Given the description of an element on the screen output the (x, y) to click on. 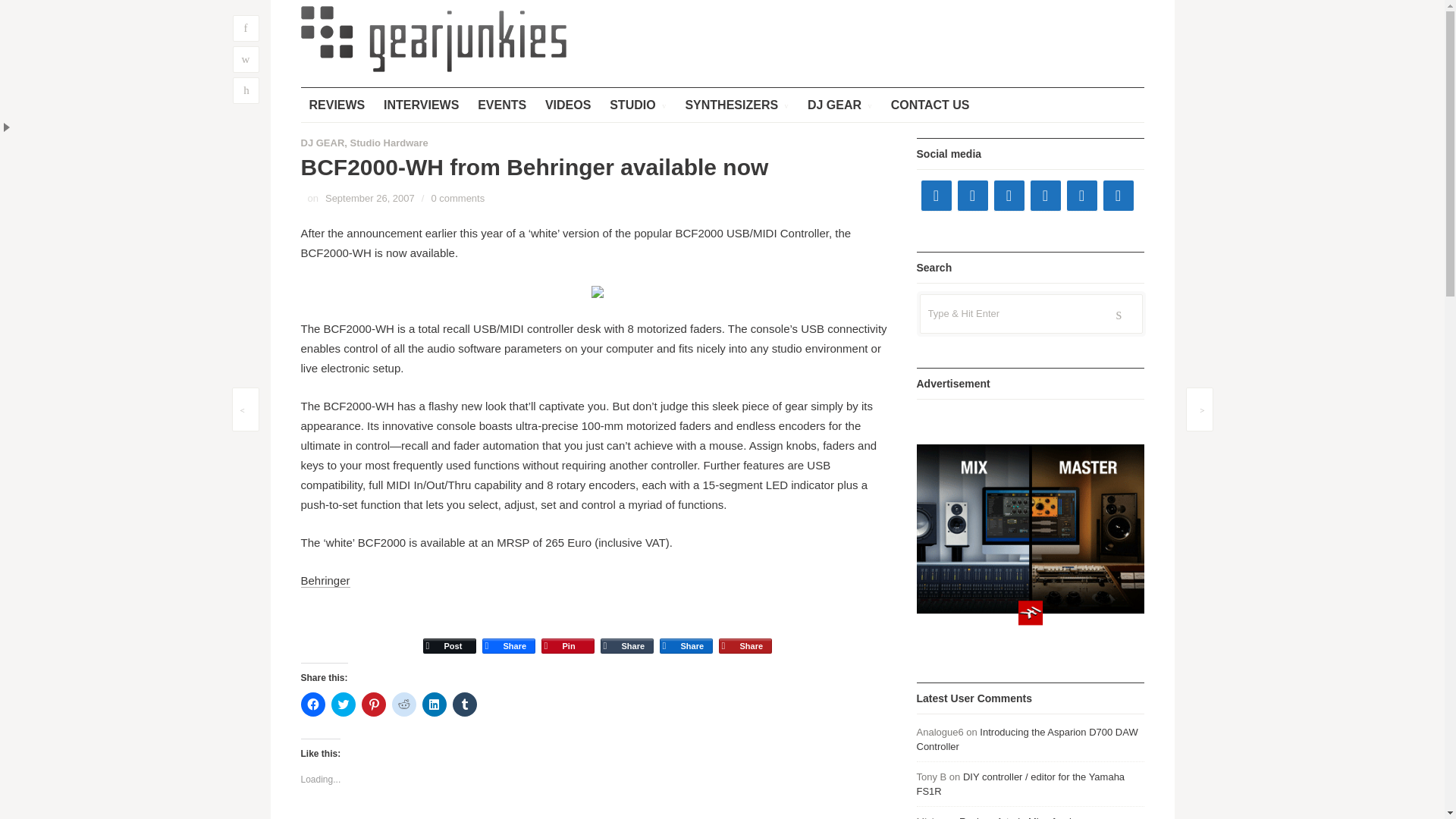
VIDEOS (567, 104)
Tumblr (626, 632)
EVENTS (501, 104)
Permalink to BCF2000-WH from Behringer available now (369, 197)
0 comments (457, 197)
LinkedIn (686, 632)
Pinterest (567, 632)
Studio Hardware (389, 142)
Click to share on Facebook (311, 704)
Click to share on Pinterest (373, 704)
